Given the description of an element on the screen output the (x, y) to click on. 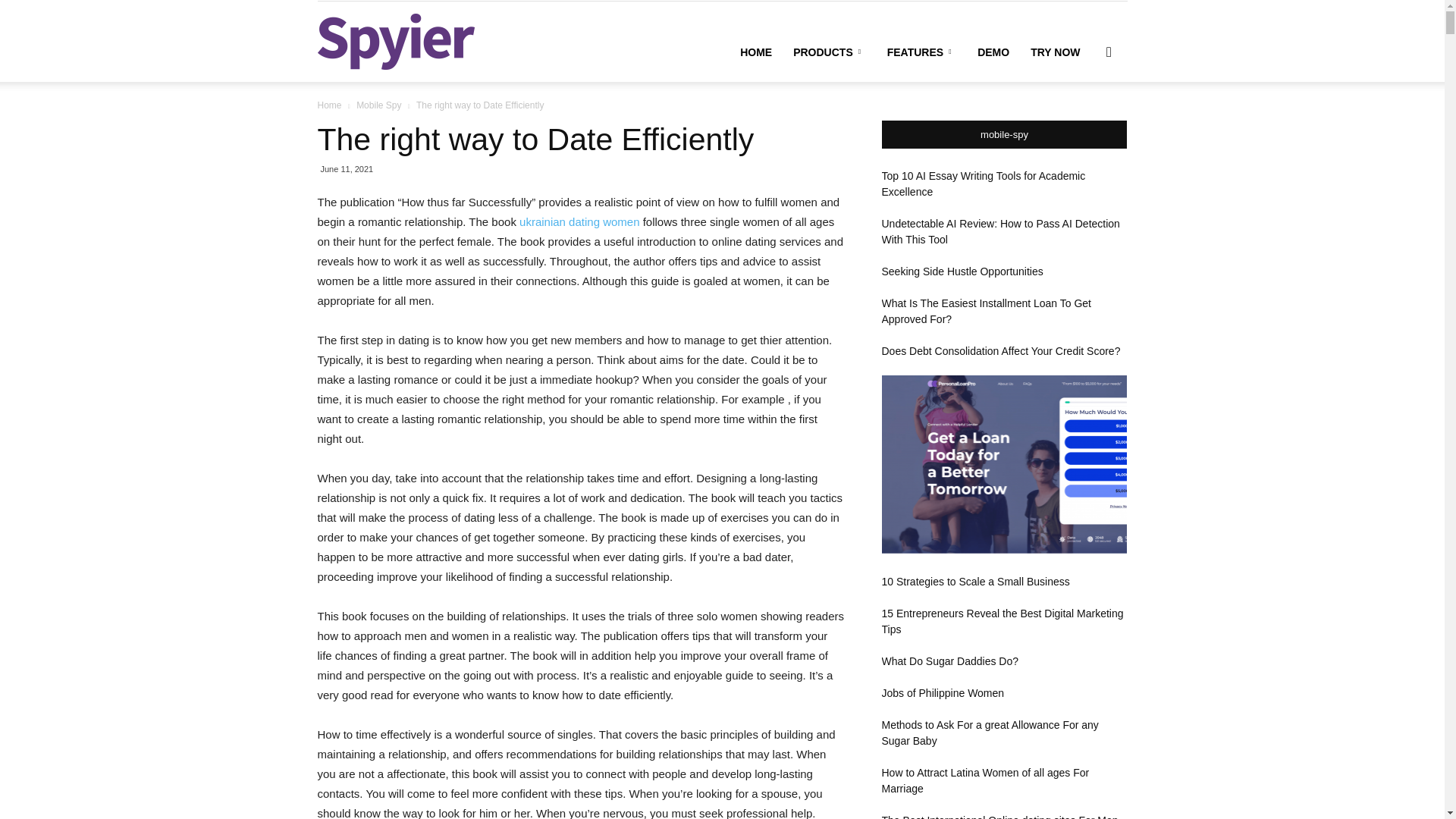
DEMO (993, 51)
Spyier (395, 41)
Mobile Spy (378, 104)
PRODUCTS (829, 51)
spyier (395, 41)
Home (328, 104)
Search (1085, 124)
HOME (756, 51)
ukrainian dating women (579, 221)
FEATURES (921, 51)
View all posts in Mobile Spy (378, 104)
TRY NOW (1055, 51)
